Given the description of an element on the screen output the (x, y) to click on. 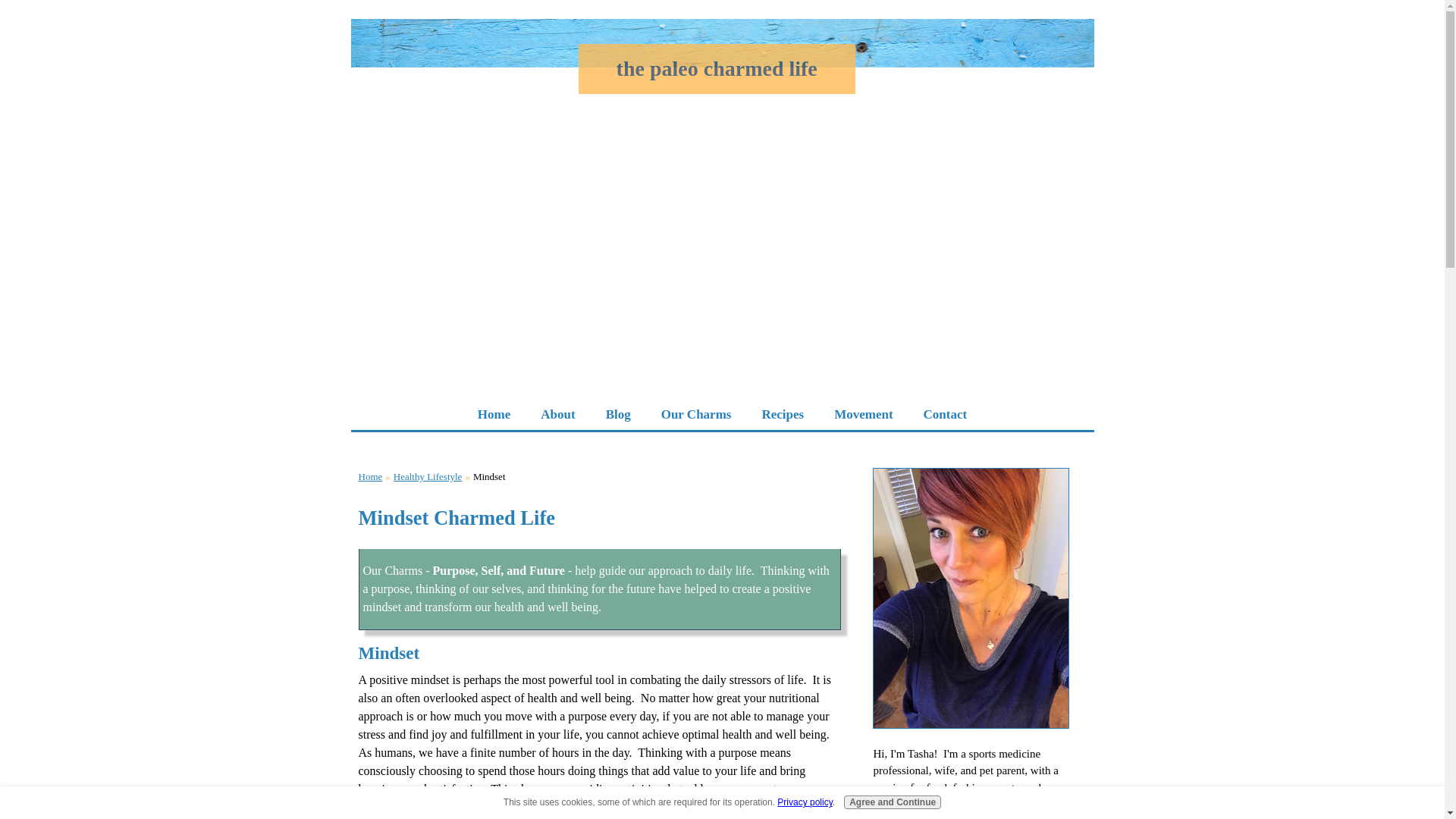
Movement (862, 414)
Home (494, 414)
Privacy policy (804, 801)
Healthy Lifestyle (428, 476)
Agree and Continue (892, 802)
Blog (618, 414)
the paleo charmed life (715, 68)
About (557, 414)
Recipes (781, 414)
Contact (945, 414)
Our Charms (696, 414)
Home (369, 476)
